Given the description of an element on the screen output the (x, y) to click on. 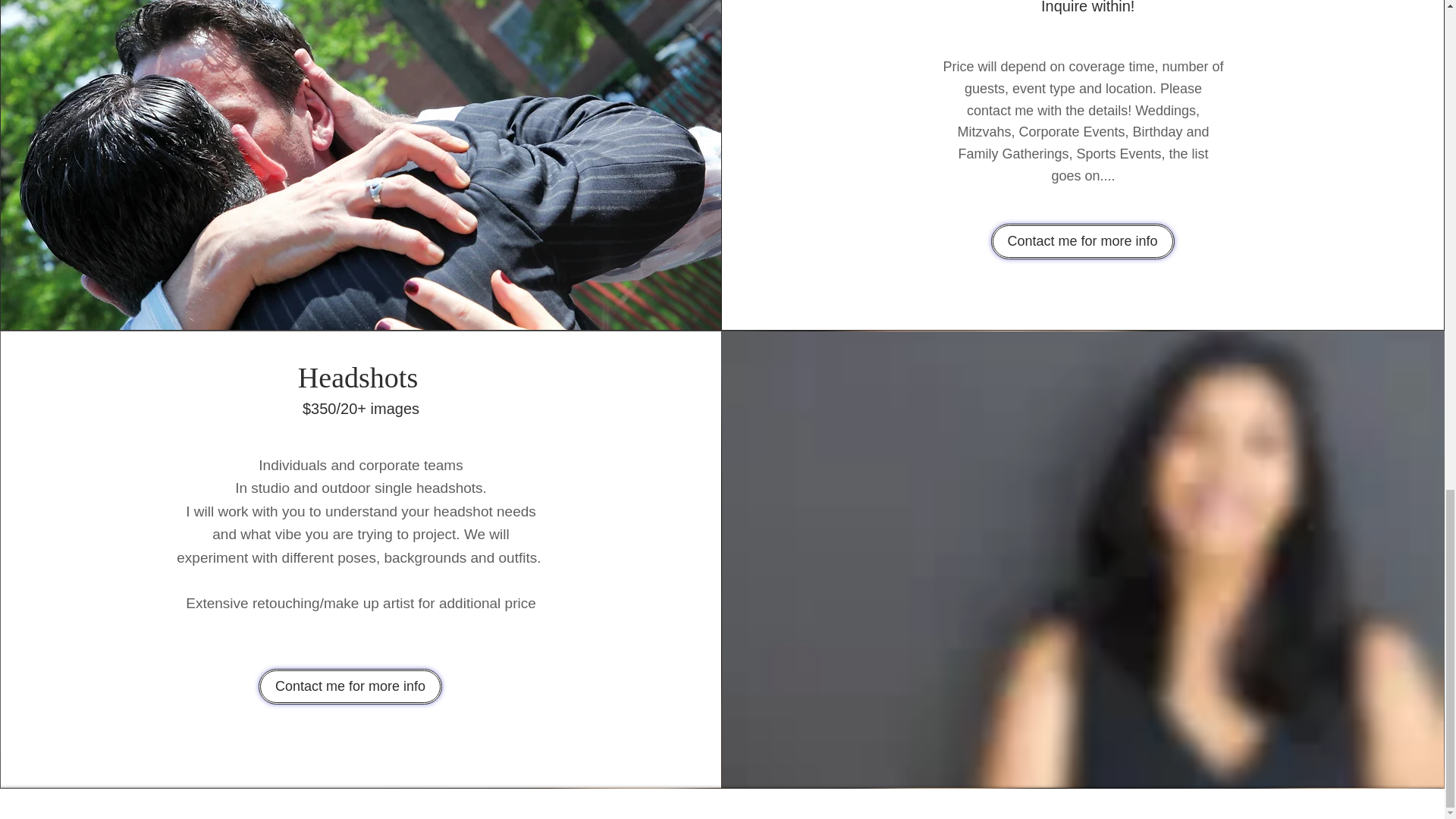
Contact me for more info (1082, 241)
Contact me for more info (350, 686)
